Given the description of an element on the screen output the (x, y) to click on. 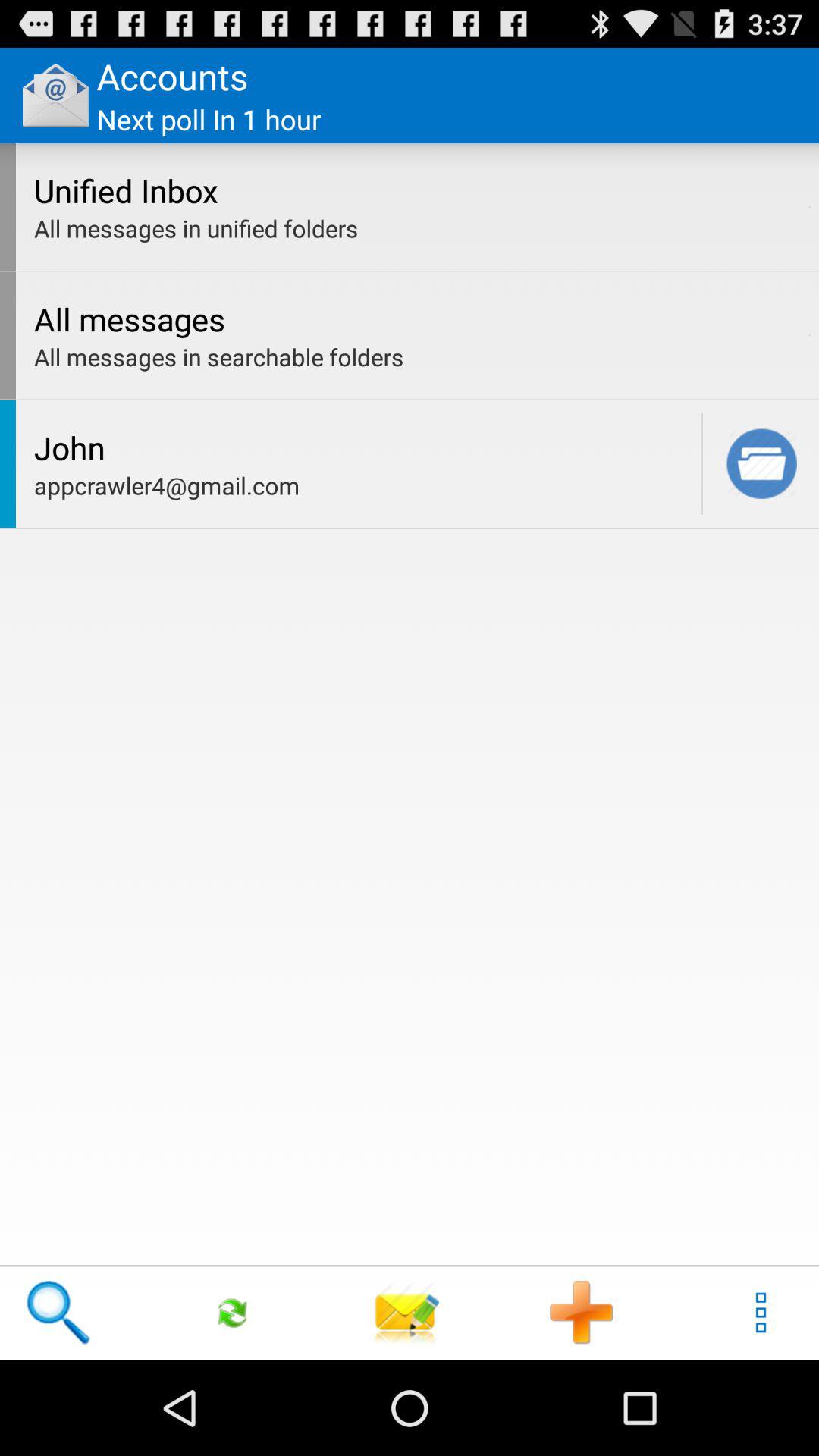
launch item next to all messages app (809, 335)
